Given the description of an element on the screen output the (x, y) to click on. 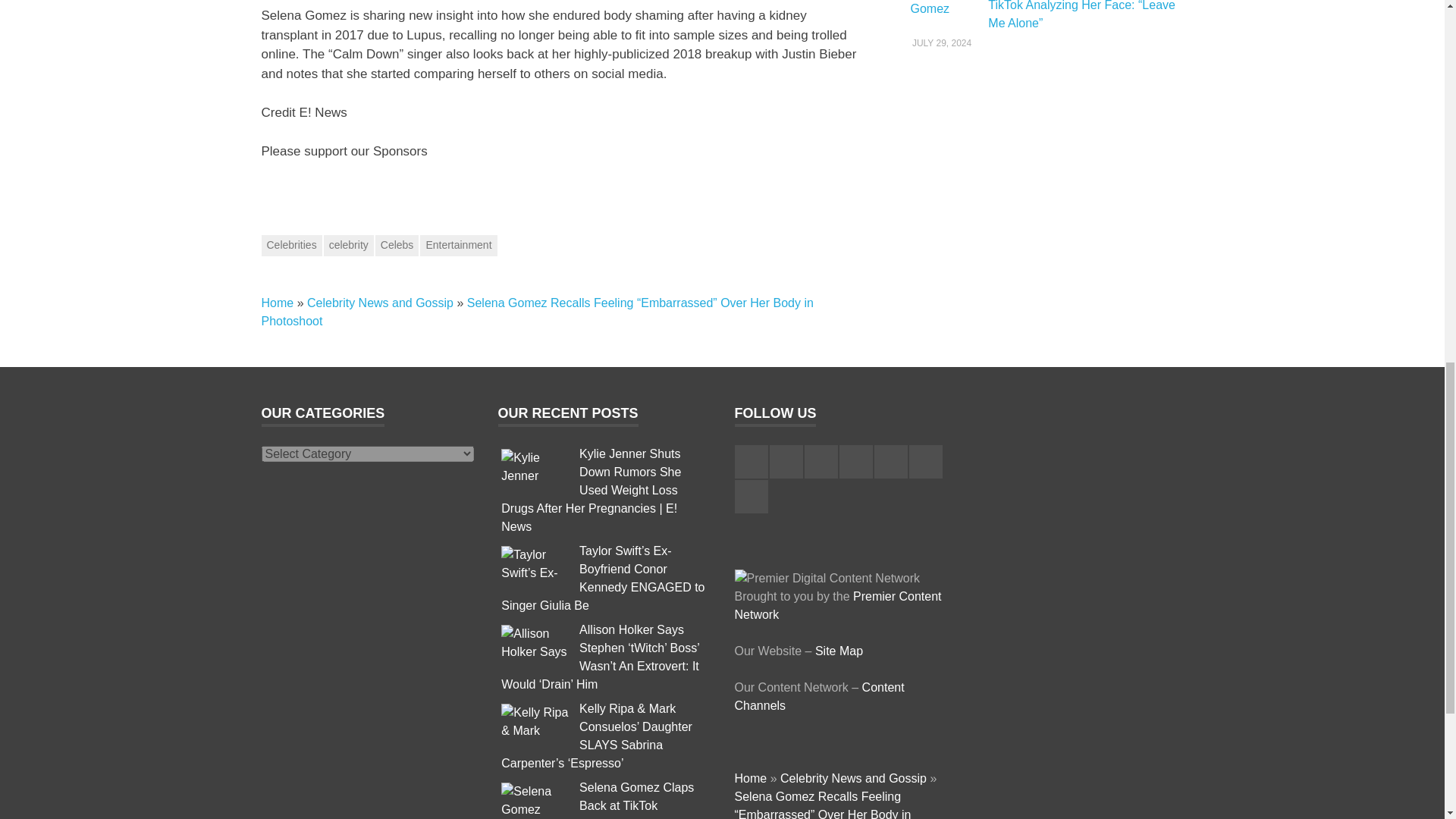
celebrity (348, 245)
Celebrity News and Gossip (379, 302)
Celebrities (290, 245)
Home (277, 302)
